Given the description of an element on the screen output the (x, y) to click on. 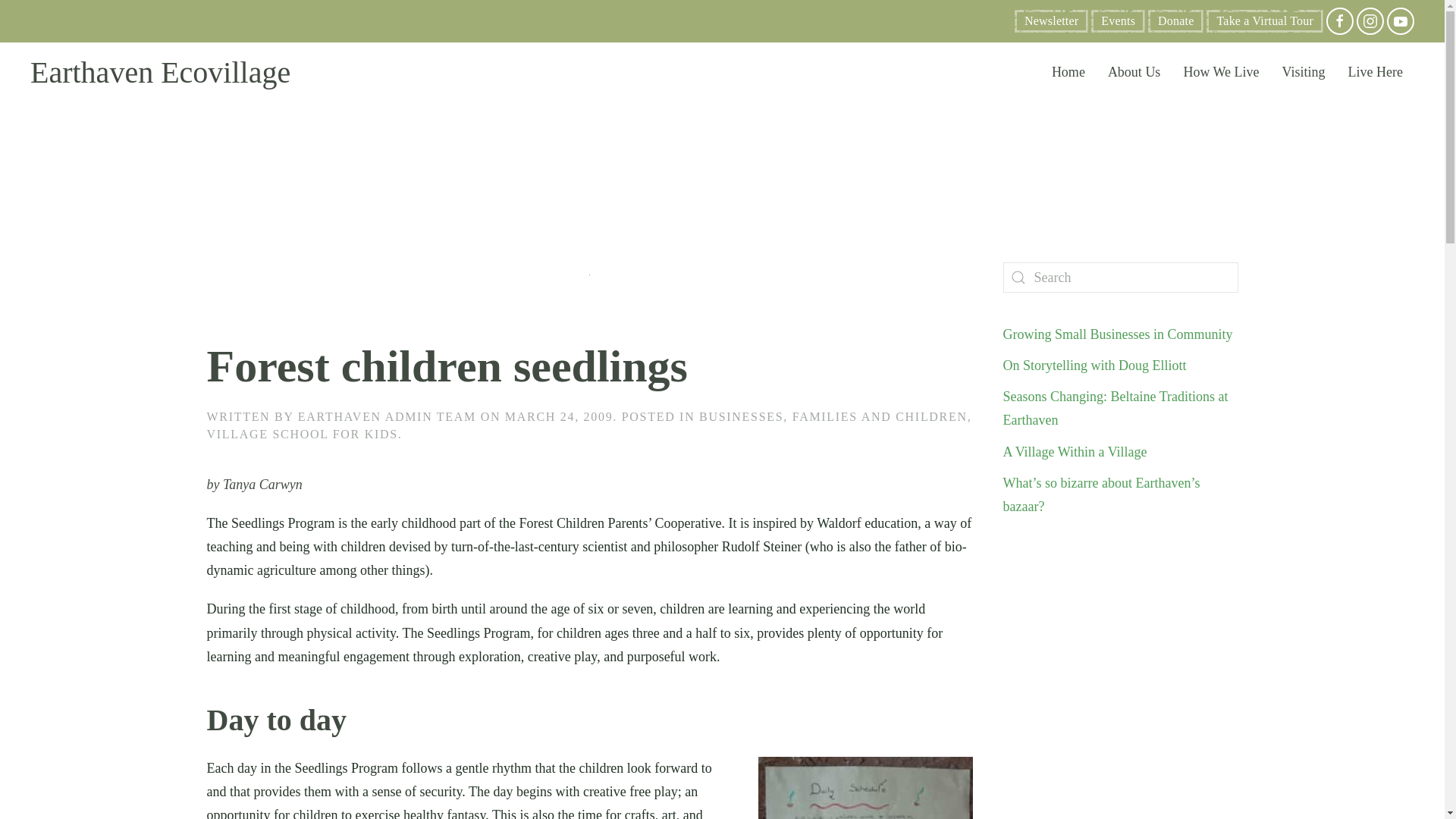
Newsletter (1050, 20)
Events (1117, 20)
